Given the description of an element on the screen output the (x, y) to click on. 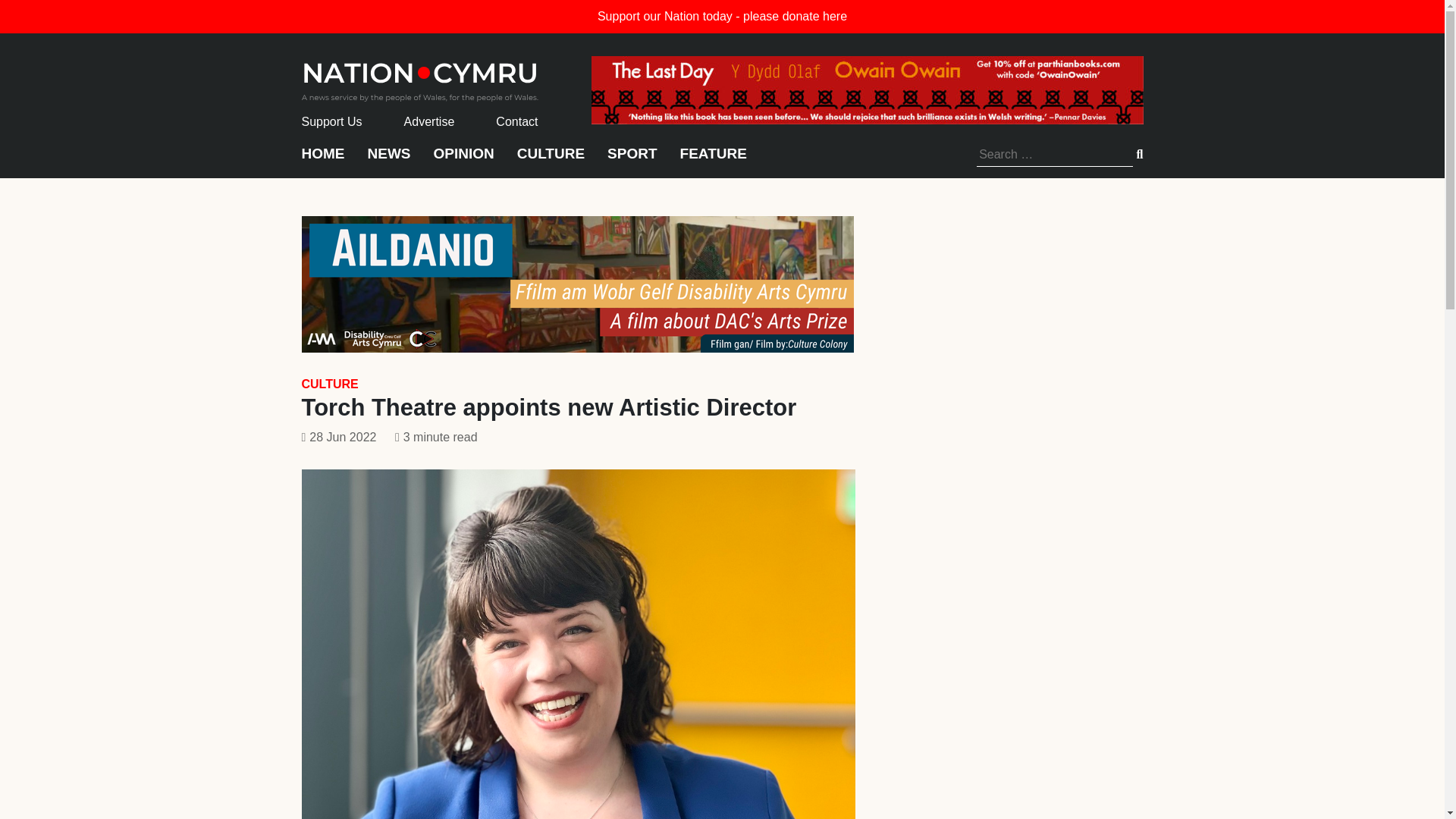
CULTURE (550, 160)
OPINION (464, 160)
CULTURE (329, 383)
FEATURE (712, 160)
home (419, 77)
Support Us (331, 121)
NEWS (388, 160)
Advertise (429, 121)
HOME (323, 160)
SPORT (631, 160)
Contact (516, 121)
